Given the description of an element on the screen output the (x, y) to click on. 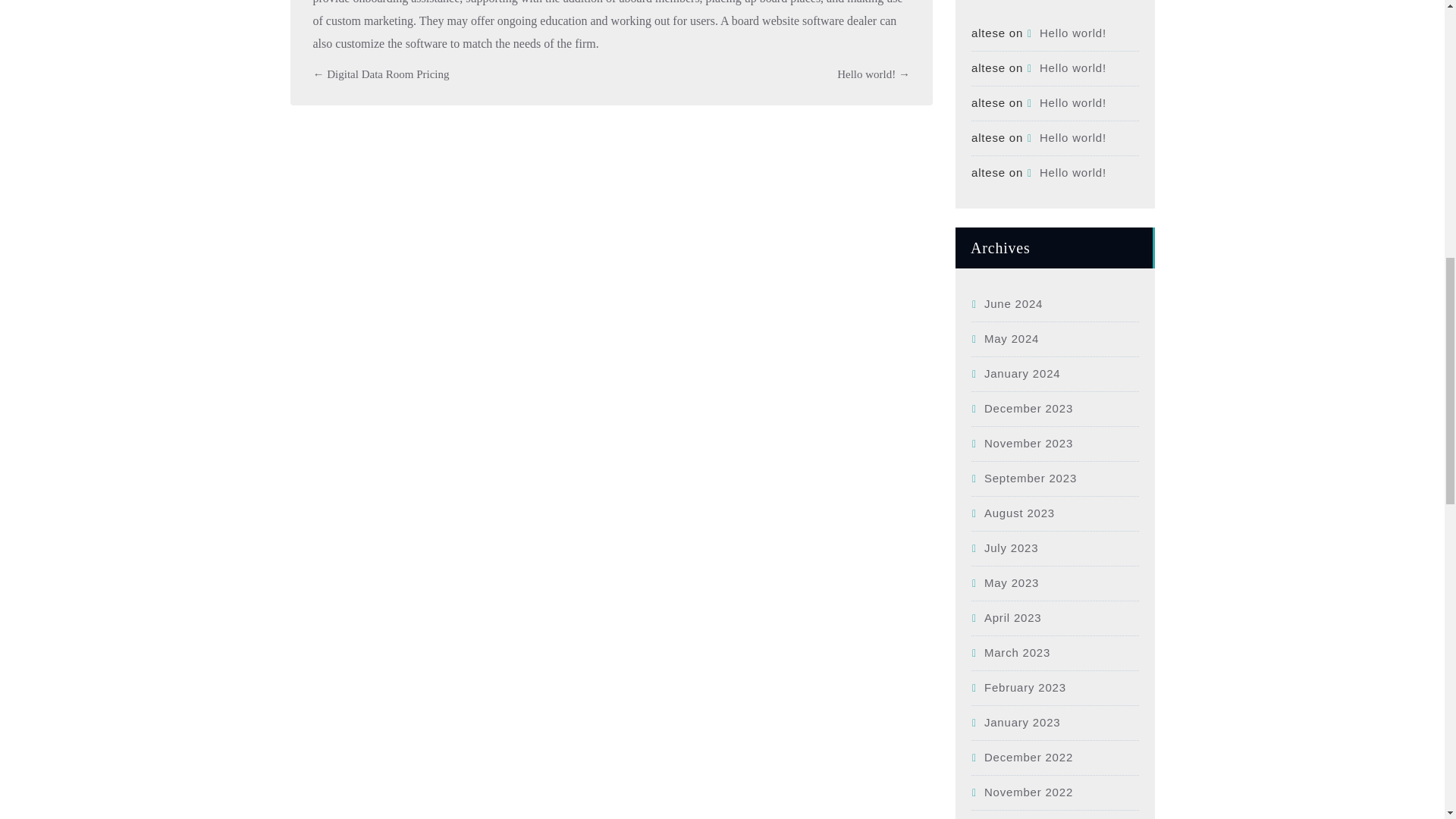
Hello world! (1066, 172)
June 2024 (1006, 303)
Send Message (362, 525)
Hello world! (1066, 32)
Hello world! (1066, 102)
Hello world! (1066, 67)
Hello world! (1066, 137)
